Given the description of an element on the screen output the (x, y) to click on. 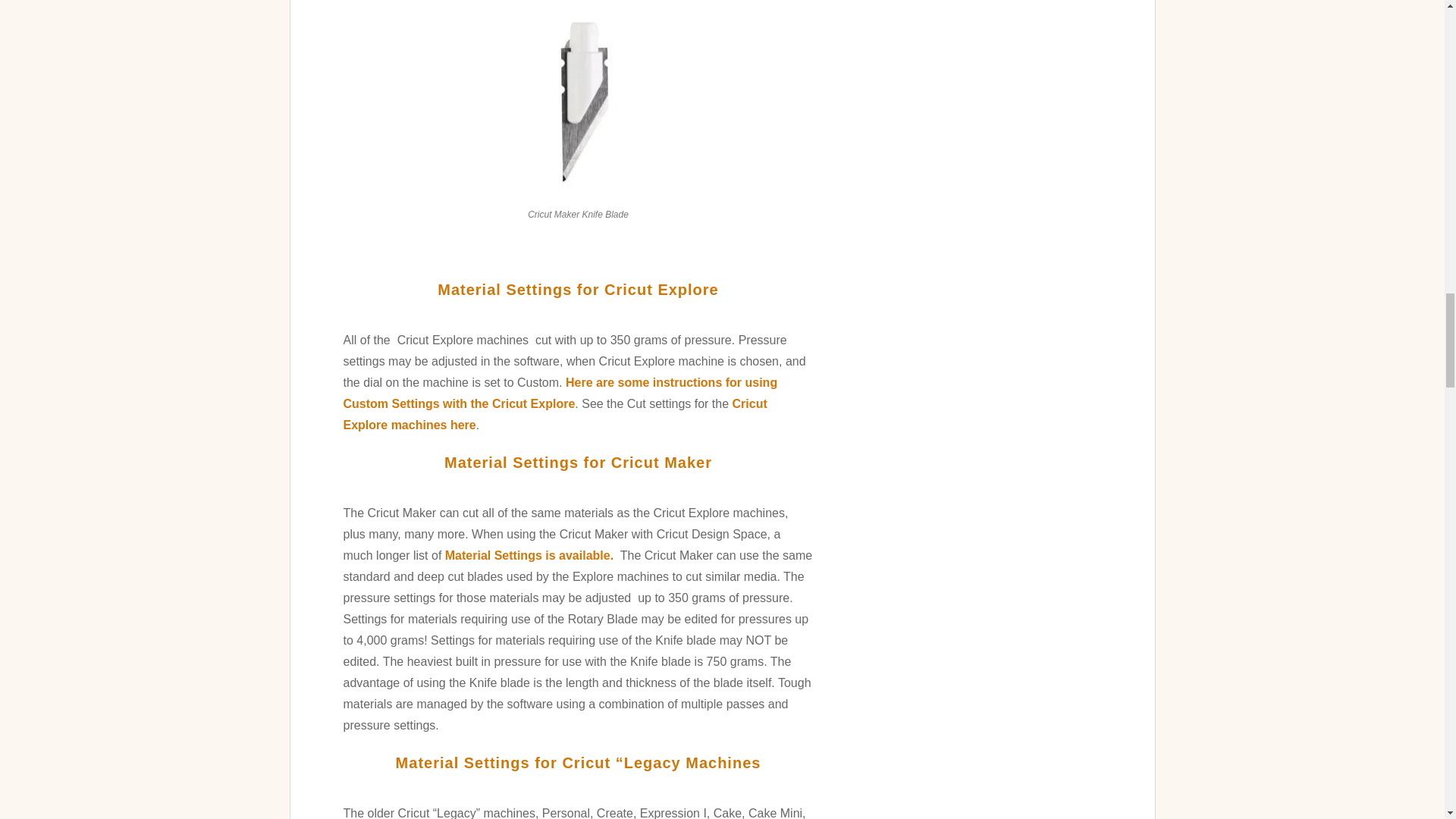
Cricut Explore machines here (554, 414)
Material Settings is available.  (531, 554)
